Given the description of an element on the screen output the (x, y) to click on. 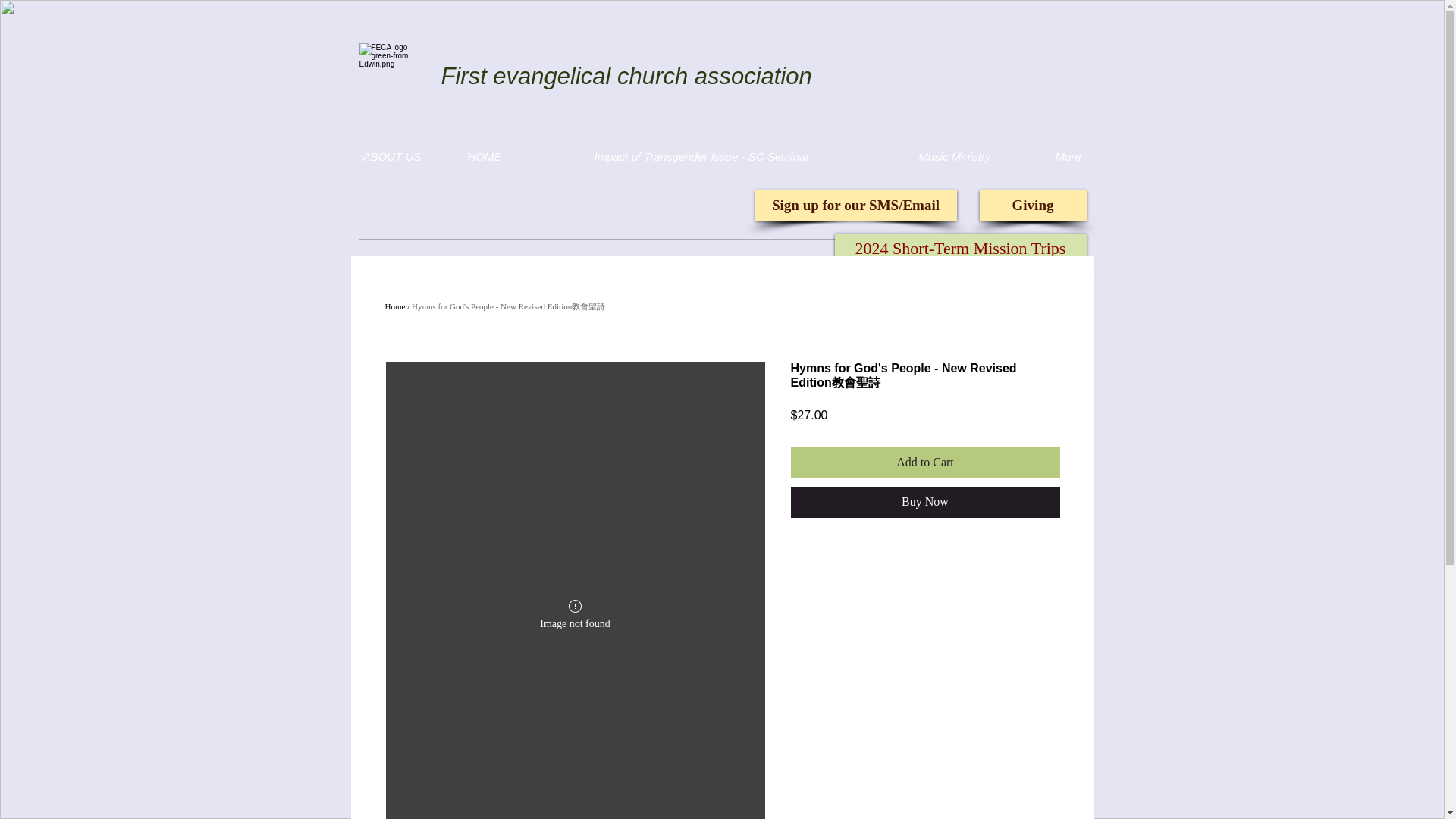
Giving (1032, 205)
Home (395, 306)
2024 Short-Term Mission Trips (960, 248)
Impact of Transgender Issue - SC Seminar (700, 156)
ABOUT US (391, 156)
Music Ministry (954, 156)
HOME (484, 156)
Buy Now (924, 501)
Add to Cart (924, 462)
